Given the description of an element on the screen output the (x, y) to click on. 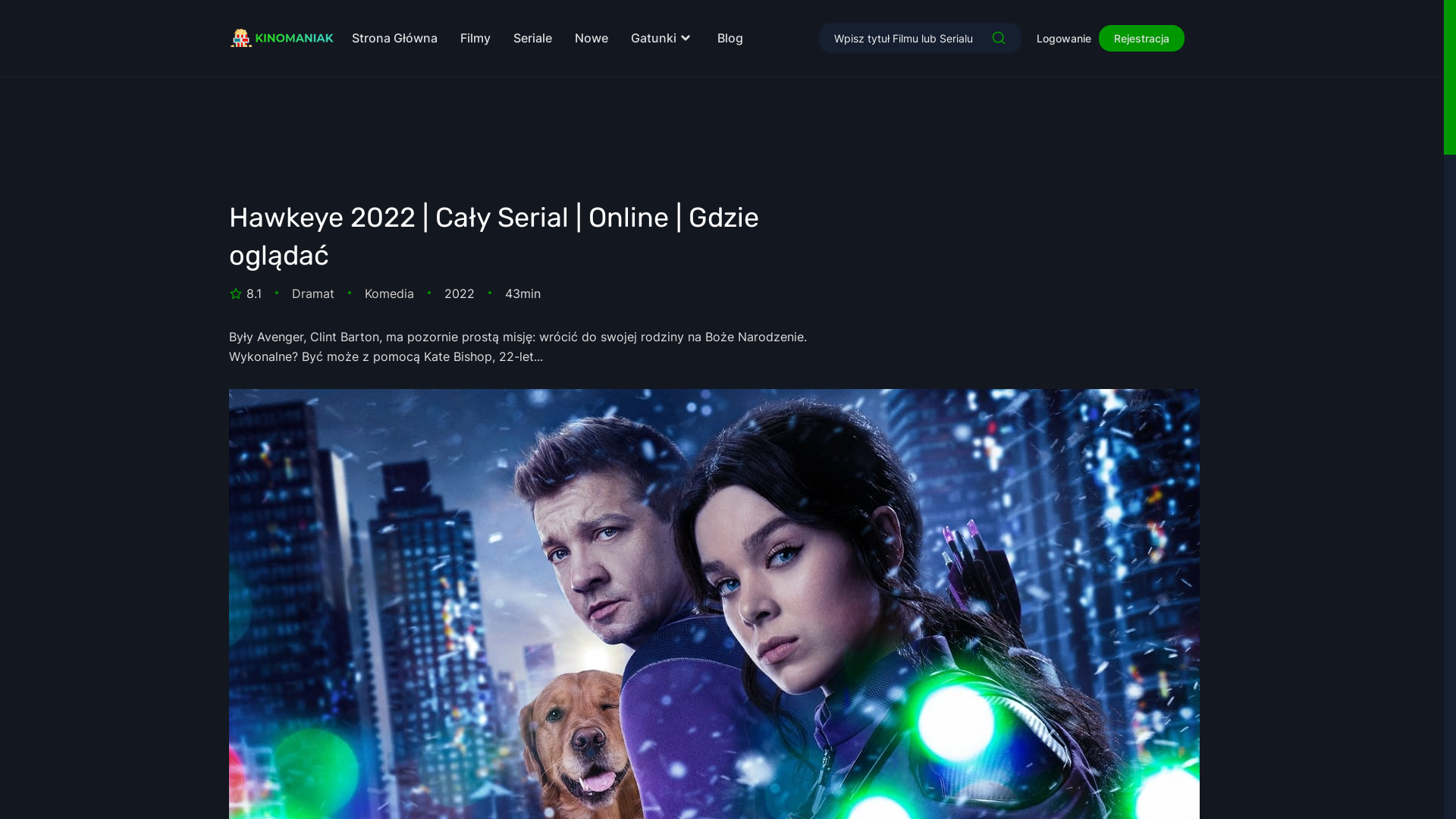
Gatunki Element type: text (662, 37)
Nowe Element type: text (591, 37)
Blog Element type: text (730, 37)
Komedia Element type: text (389, 293)
Logowanie Element type: text (1067, 38)
Rejestracja Element type: text (1141, 37)
Seriale Element type: text (532, 37)
Dramat Element type: text (312, 293)
Logo Kinomaniak.cc Element type: hover (282, 37)
Filmy Element type: text (475, 37)
Rejestracja Element type: text (1141, 37)
Search Movies Element type: hover (998, 37)
